Given the description of an element on the screen output the (x, y) to click on. 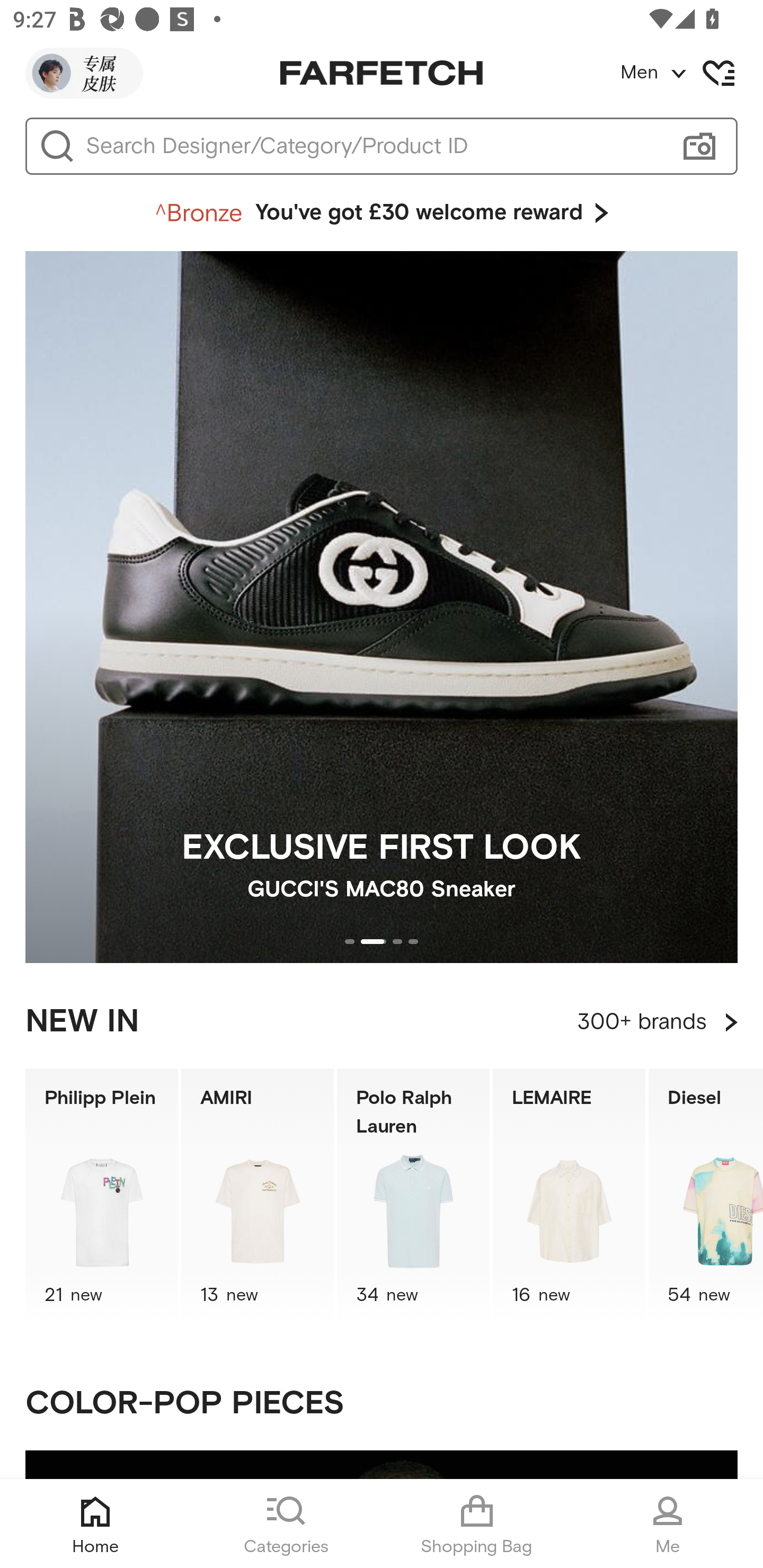
Men (691, 72)
Search Designer/Category/Product ID (373, 146)
You've got £30 welcome reward (381, 213)
NEW IN 300+ brands (381, 1021)
Philipp Plein 21  new (101, 1196)
AMIRI 13  new (257, 1196)
Polo Ralph Lauren 34  new (413, 1196)
LEMAIRE 16  new (568, 1196)
Diesel 54  new (705, 1196)
Categories (285, 1523)
Shopping Bag (476, 1523)
Me (667, 1523)
